Given the description of an element on the screen output the (x, y) to click on. 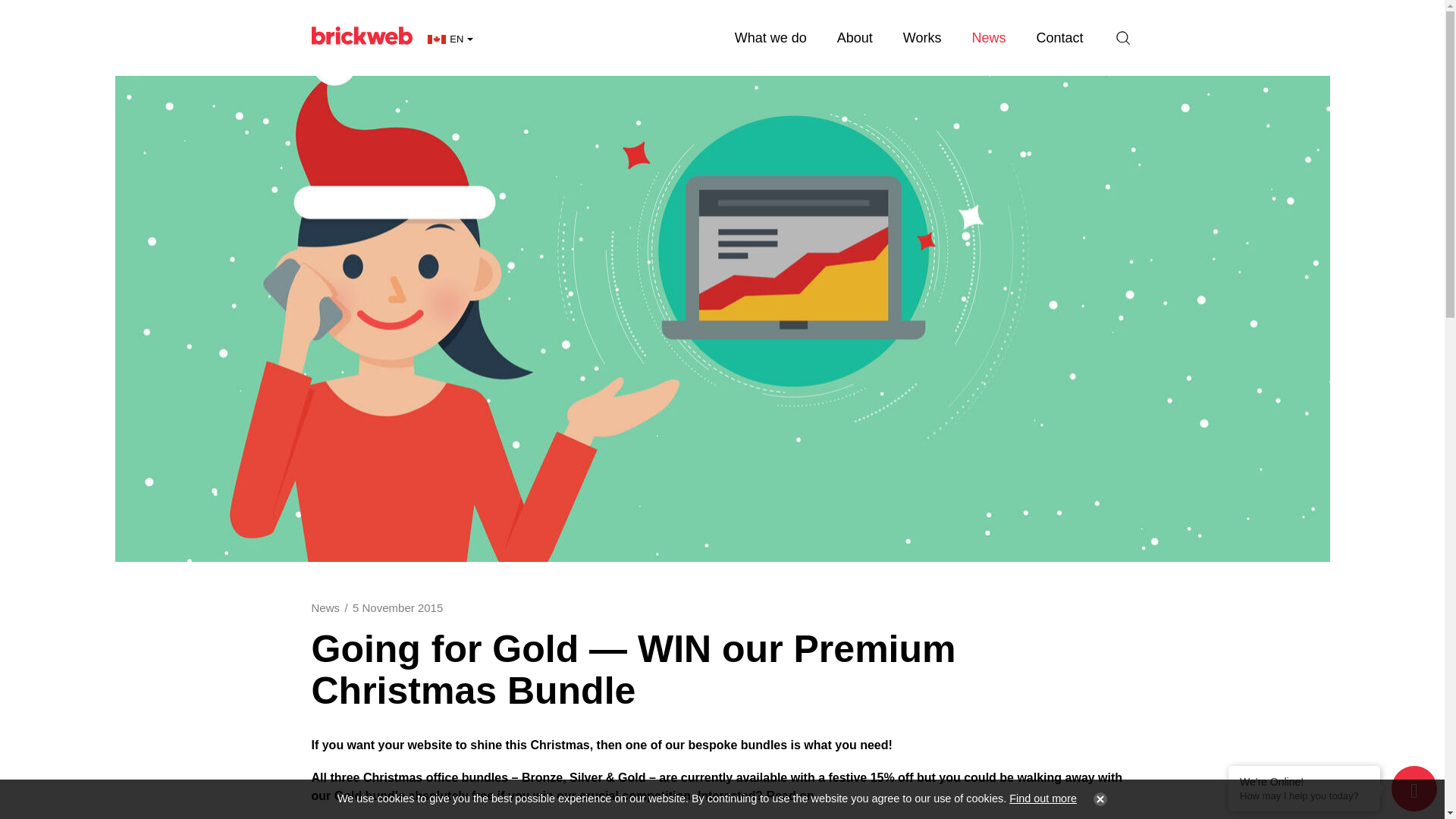
Works (922, 37)
Brick technology news (988, 37)
Contact (1058, 37)
News (325, 607)
News (988, 37)
5 November 2015 (397, 607)
EN (450, 39)
About (855, 37)
What we do (770, 37)
